Given the description of an element on the screen output the (x, y) to click on. 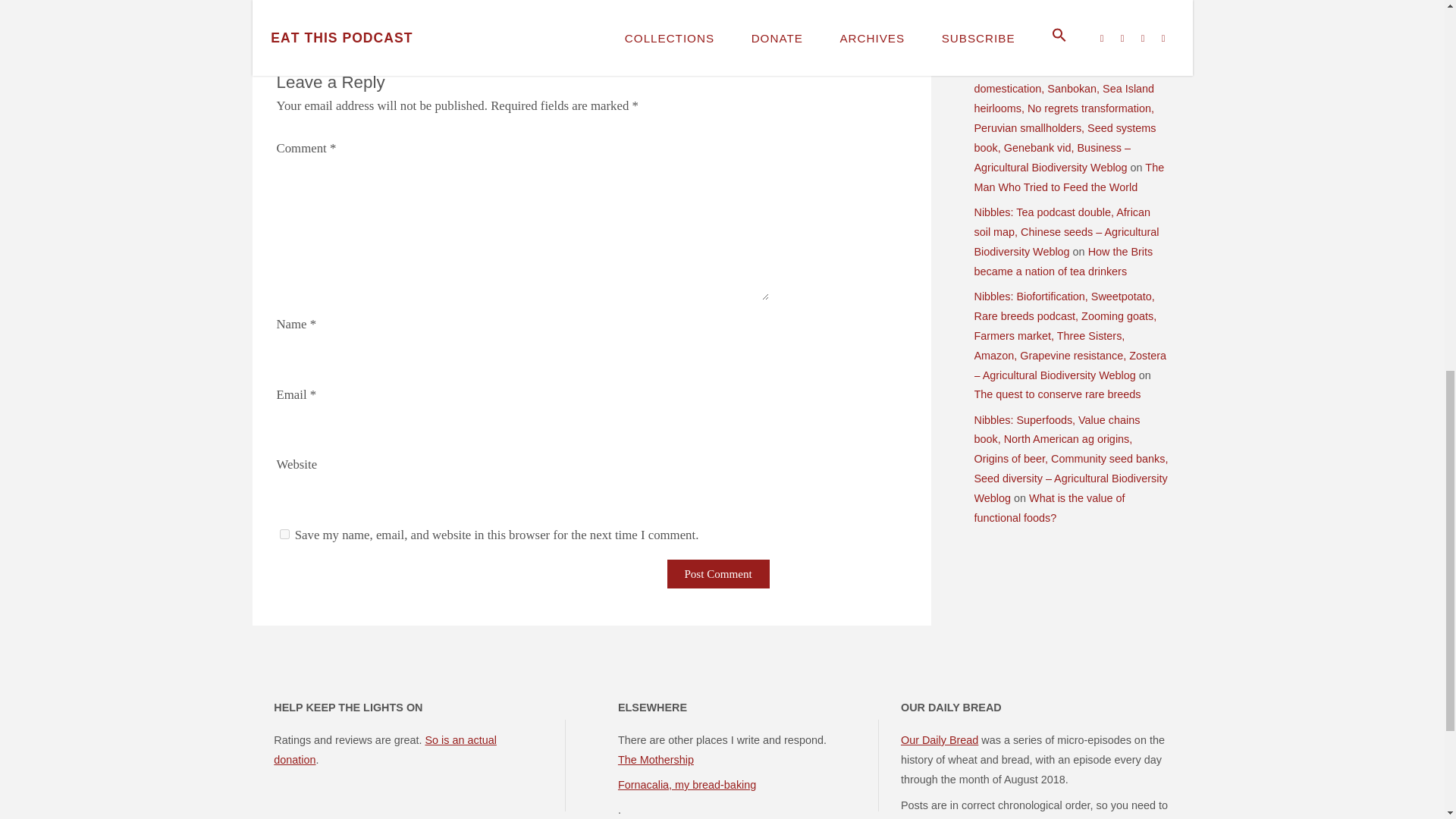
Eat This Newsletter 051 (822, 28)
Post Comment (718, 573)
A computer learns about ingredients and recipes (418, 28)
yes (283, 533)
Post Comment (718, 573)
